Given the description of an element on the screen output the (x, y) to click on. 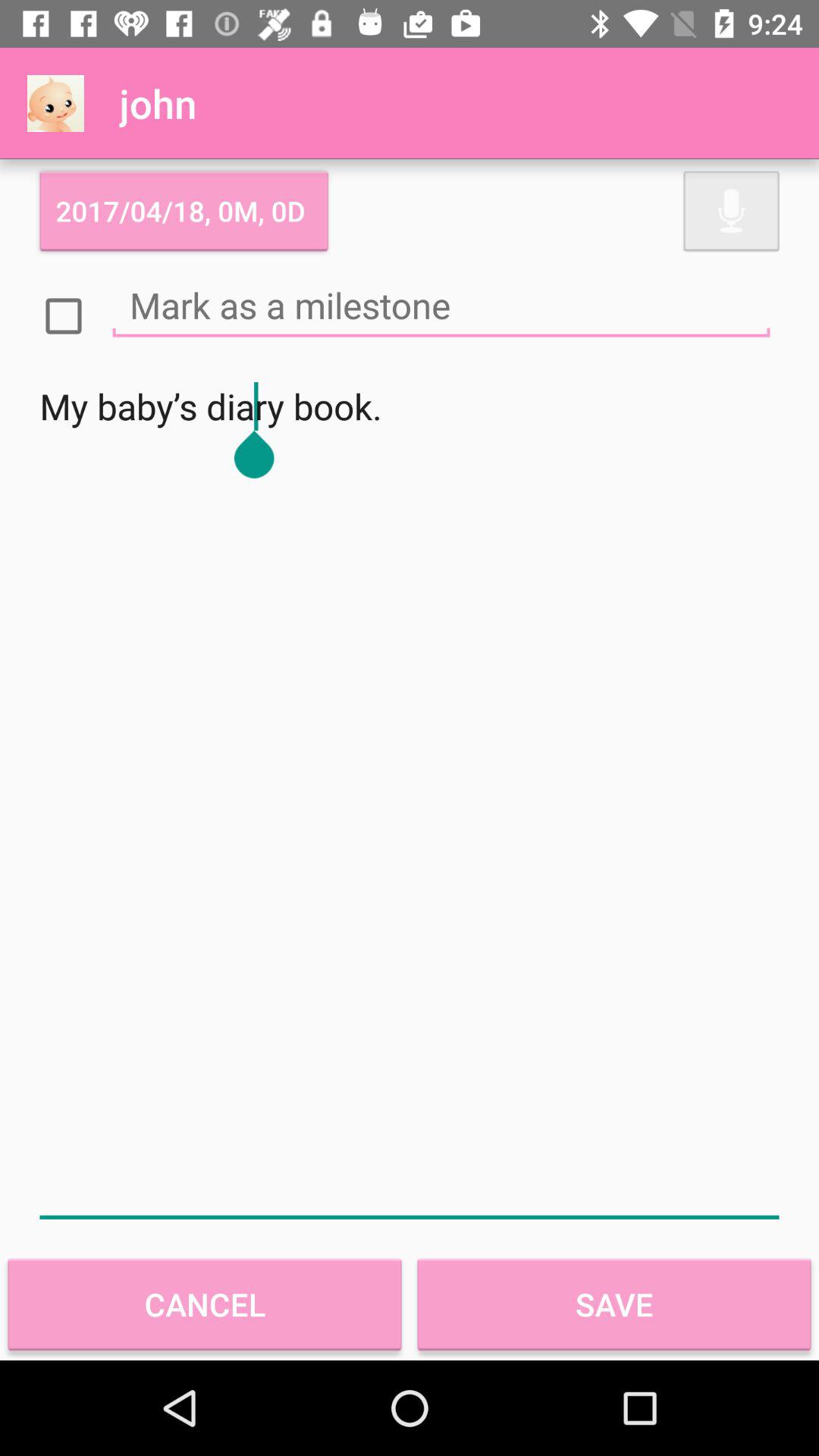
launch the icon to the right of the cancel (614, 1304)
